Given the description of an element on the screen output the (x, y) to click on. 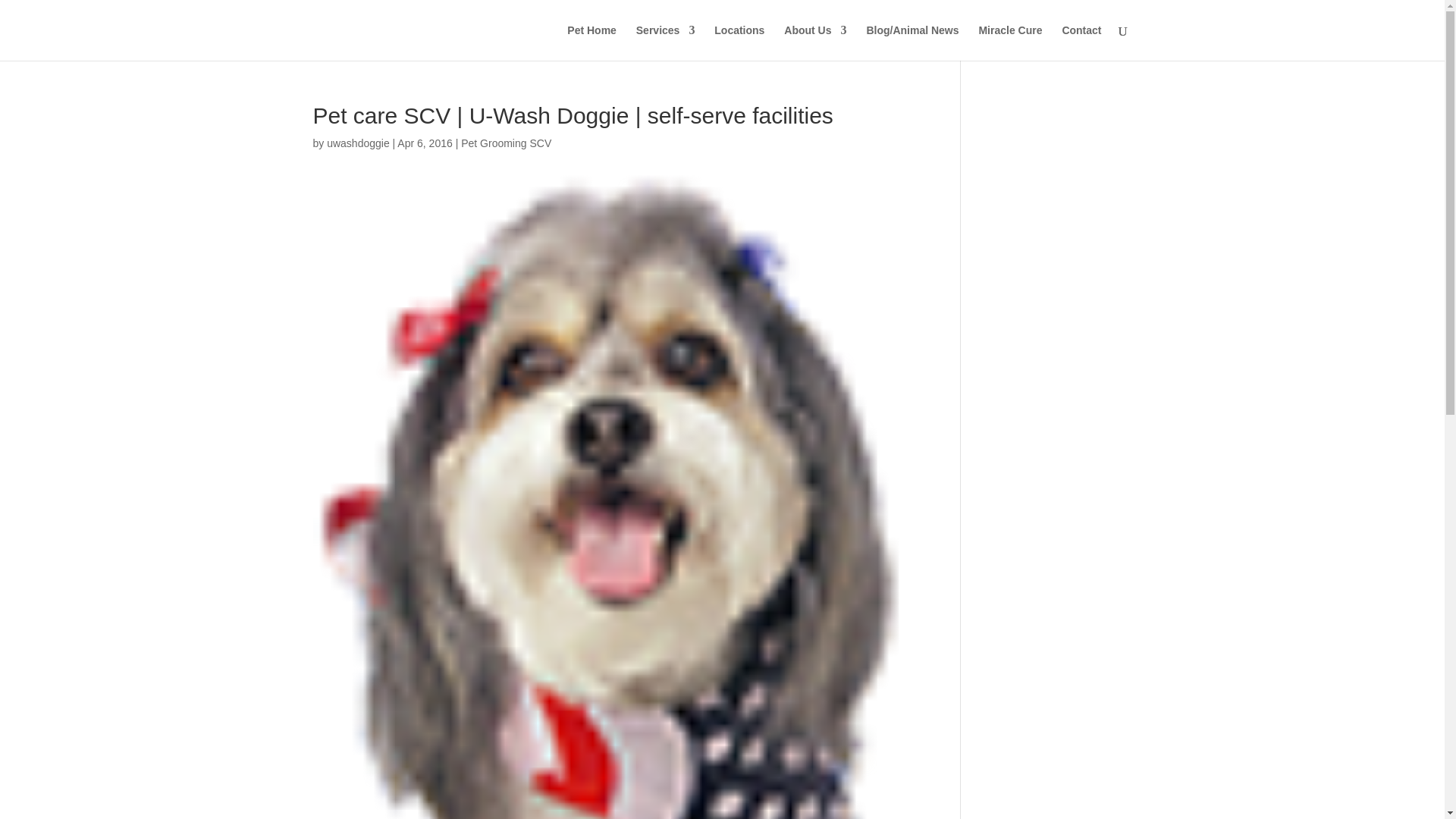
Miracle Cure (1010, 42)
Services (665, 42)
About Us (814, 42)
Locations (739, 42)
Contact (1080, 42)
uwashdoggie (358, 143)
Pet Grooming SCV (506, 143)
Pet Home (591, 42)
Posts by uwashdoggie (358, 143)
